Given the description of an element on the screen output the (x, y) to click on. 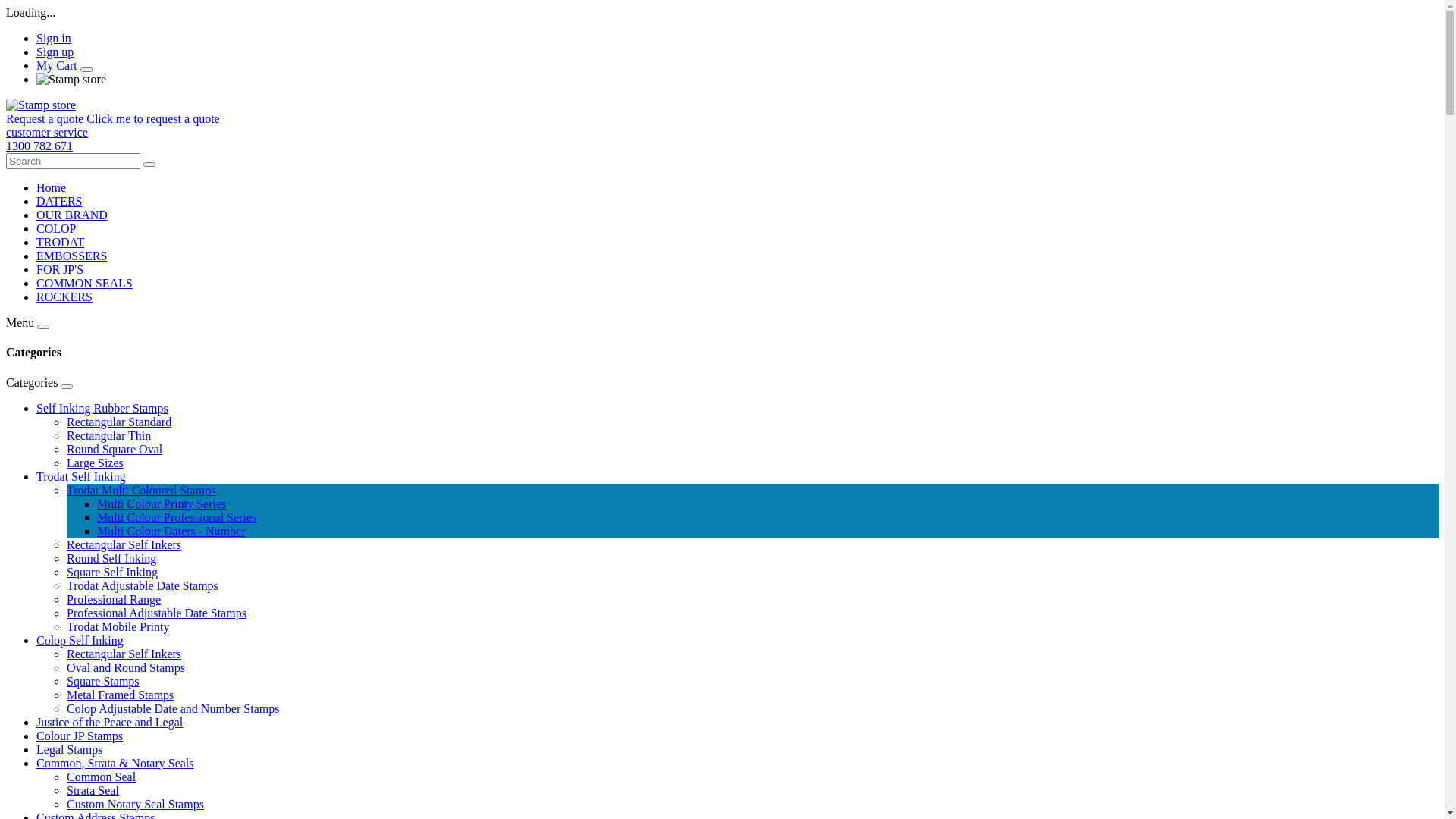
Professional Adjustable Date Stamps Element type: text (156, 612)
Sign up Element type: text (54, 51)
customer service
1300 782 671 Element type: text (722, 139)
Rectangular Self Inkers Element type: text (123, 653)
Rectangular Self Inkers Element type: text (123, 544)
Oval and Round Stamps Element type: text (125, 667)
Strata Seal Element type: text (92, 790)
Legal Stamps Element type: text (69, 749)
COMMON SEALS Element type: text (84, 282)
Multi Colour Professional Series Element type: text (176, 517)
Round Self Inking Element type: text (111, 558)
Colour JP Stamps Element type: text (79, 735)
Rectangular Standard Element type: text (118, 421)
Justice of the Peace and Legal Element type: text (109, 721)
Common, Strata & Notary Seals Element type: text (115, 762)
Trodat Adjustable Date Stamps Element type: text (142, 585)
TRODAT Element type: text (60, 241)
Metal Framed Stamps Element type: text (119, 694)
Sign in Element type: text (53, 37)
EMBOSSERS Element type: text (71, 255)
Custom Notary Seal Stamps Element type: text (134, 803)
Professional Range Element type: text (113, 599)
Multi Colour Printy Series Element type: text (161, 503)
Square Stamps Element type: text (102, 680)
FOR JP'S Element type: text (59, 269)
Round Square Oval Element type: text (114, 448)
Request a quote Click me to request a quote Element type: text (112, 118)
DATERS Element type: text (58, 200)
Large Sizes Element type: text (94, 462)
My Cart Element type: text (58, 65)
Colop Adjustable Date and Number Stamps Element type: text (172, 708)
Home Element type: text (50, 187)
ROCKERS Element type: text (64, 296)
Trodat Self Inking Element type: text (80, 476)
Common Seal Element type: text (100, 776)
COLOP Element type: text (55, 228)
Multi Colour Daters - Number Element type: text (171, 530)
Trodat Multi Coloured Stamps Element type: text (140, 489)
Trodat Mobile Printy Element type: text (117, 626)
Colop Self Inking Element type: text (79, 639)
Rectangular Thin Element type: text (108, 435)
Self Inking Rubber Stamps Element type: text (102, 407)
OUR BRAND Element type: text (71, 214)
Square Self Inking Element type: text (111, 571)
